Given the description of an element on the screen output the (x, y) to click on. 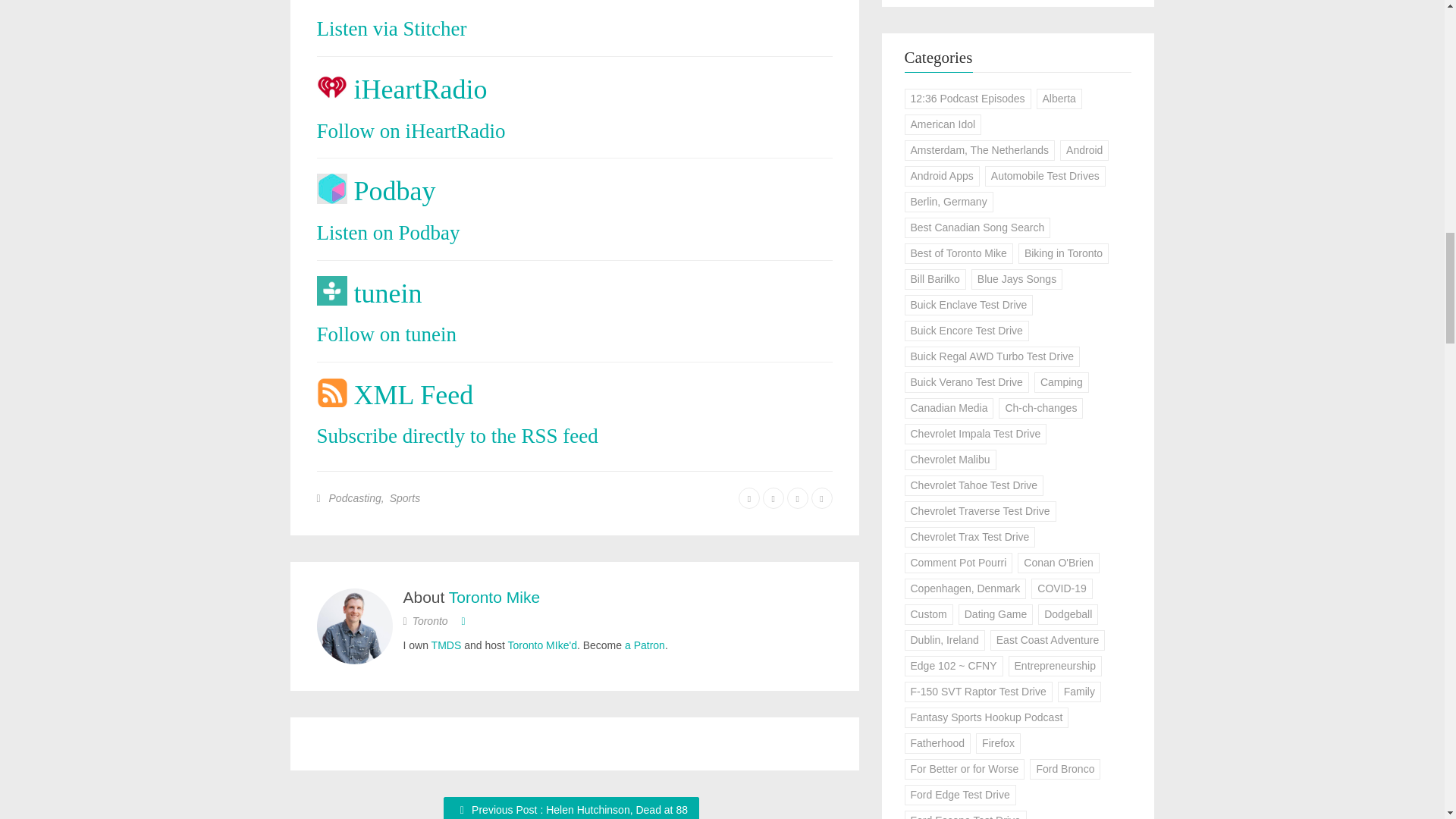
Listen via Stitcher (392, 28)
Listen on Podbay (388, 232)
iHeartRadio (419, 89)
Stitcher (395, 1)
Podbay (394, 191)
Follow on iHeartRadio (411, 130)
